Given the description of an element on the screen output the (x, y) to click on. 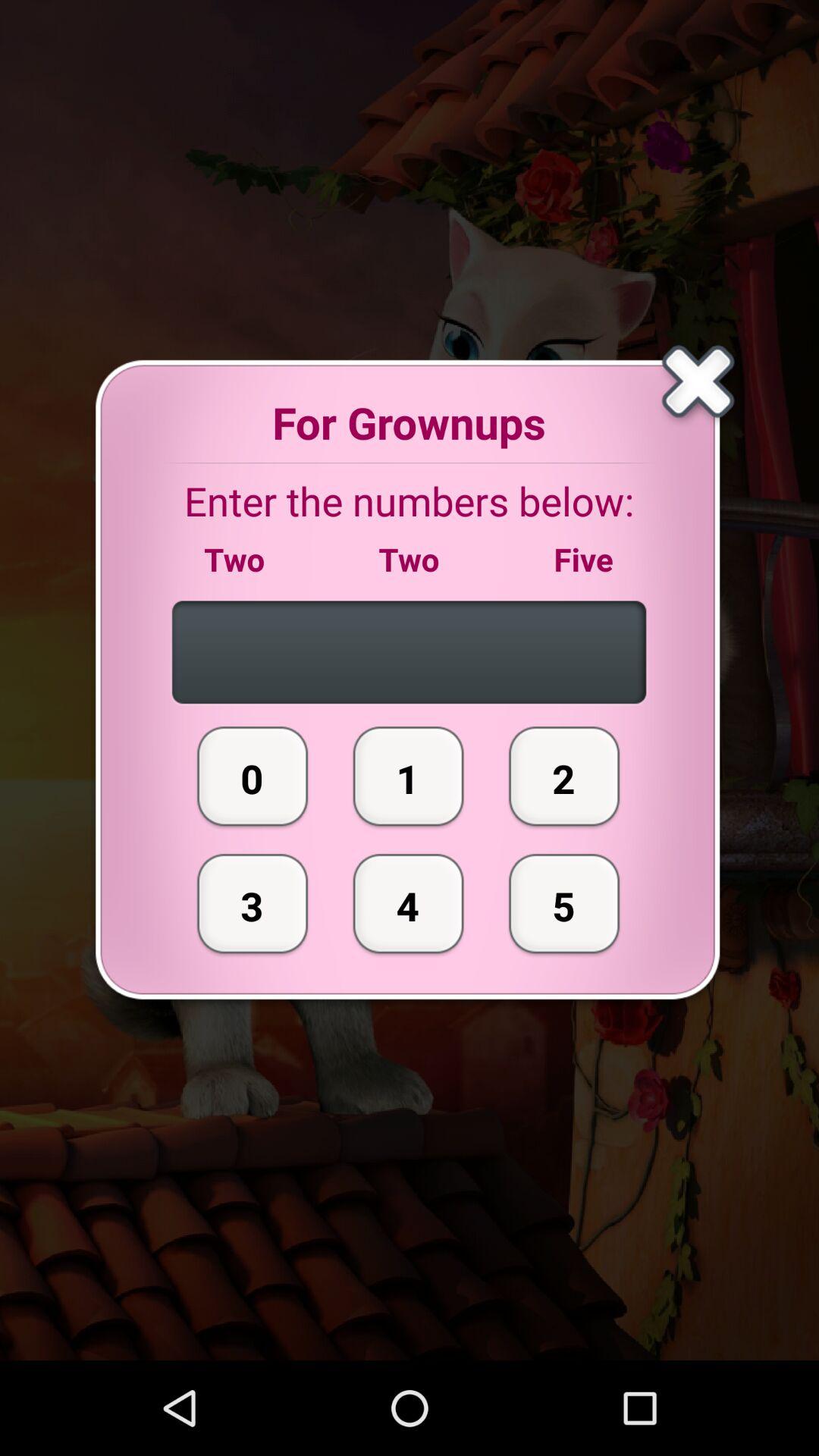
open item to the left of the 1 item (252, 903)
